Given the description of an element on the screen output the (x, y) to click on. 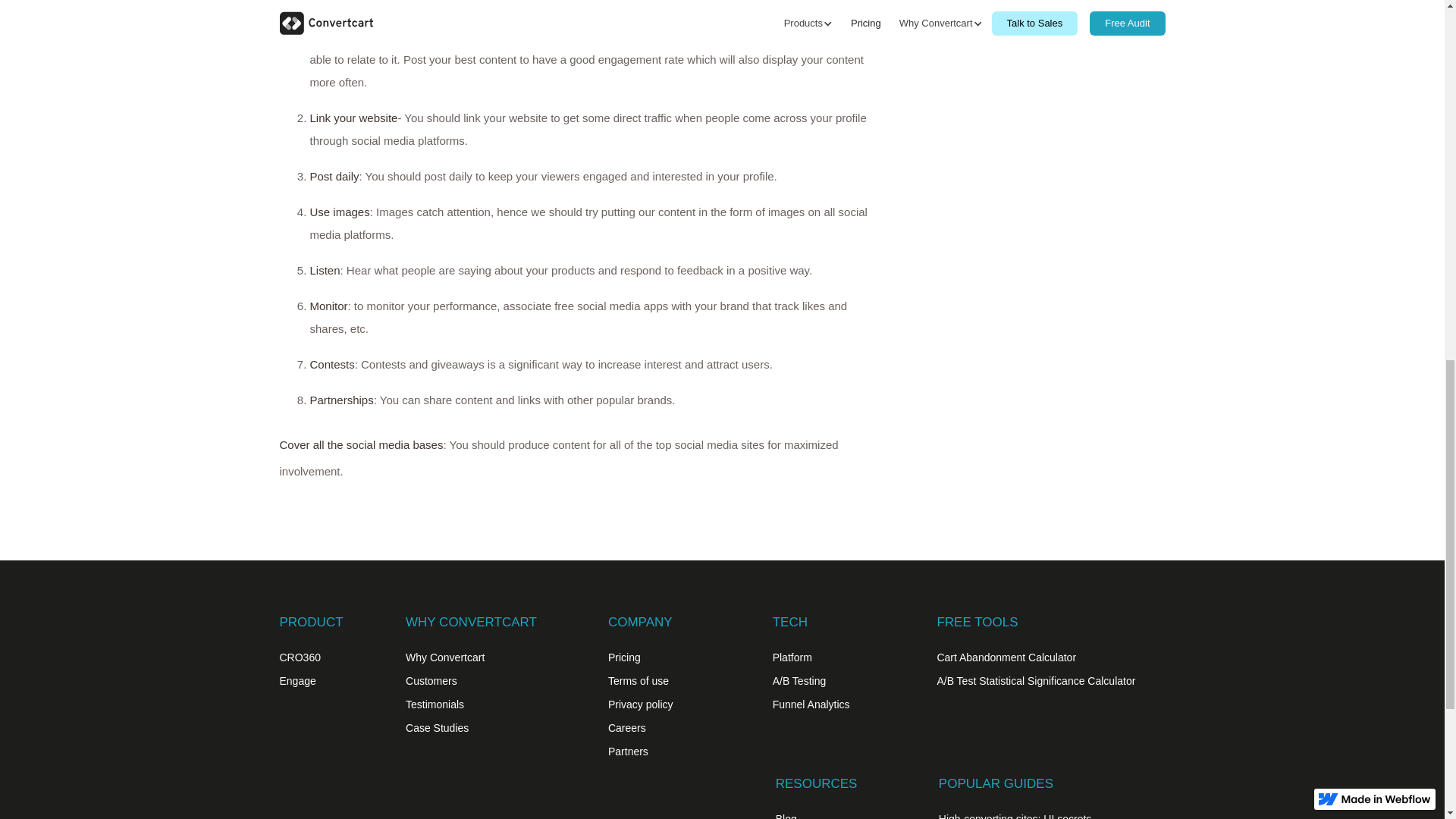
Privacy policy (640, 704)
Why Convertcart (445, 657)
Testimonials (435, 704)
Pricing (624, 657)
Platform (792, 657)
Careers (627, 727)
Engage (297, 680)
Case Studies (437, 727)
Terms of use (638, 680)
CRO360 (299, 657)
